Given the description of an element on the screen output the (x, y) to click on. 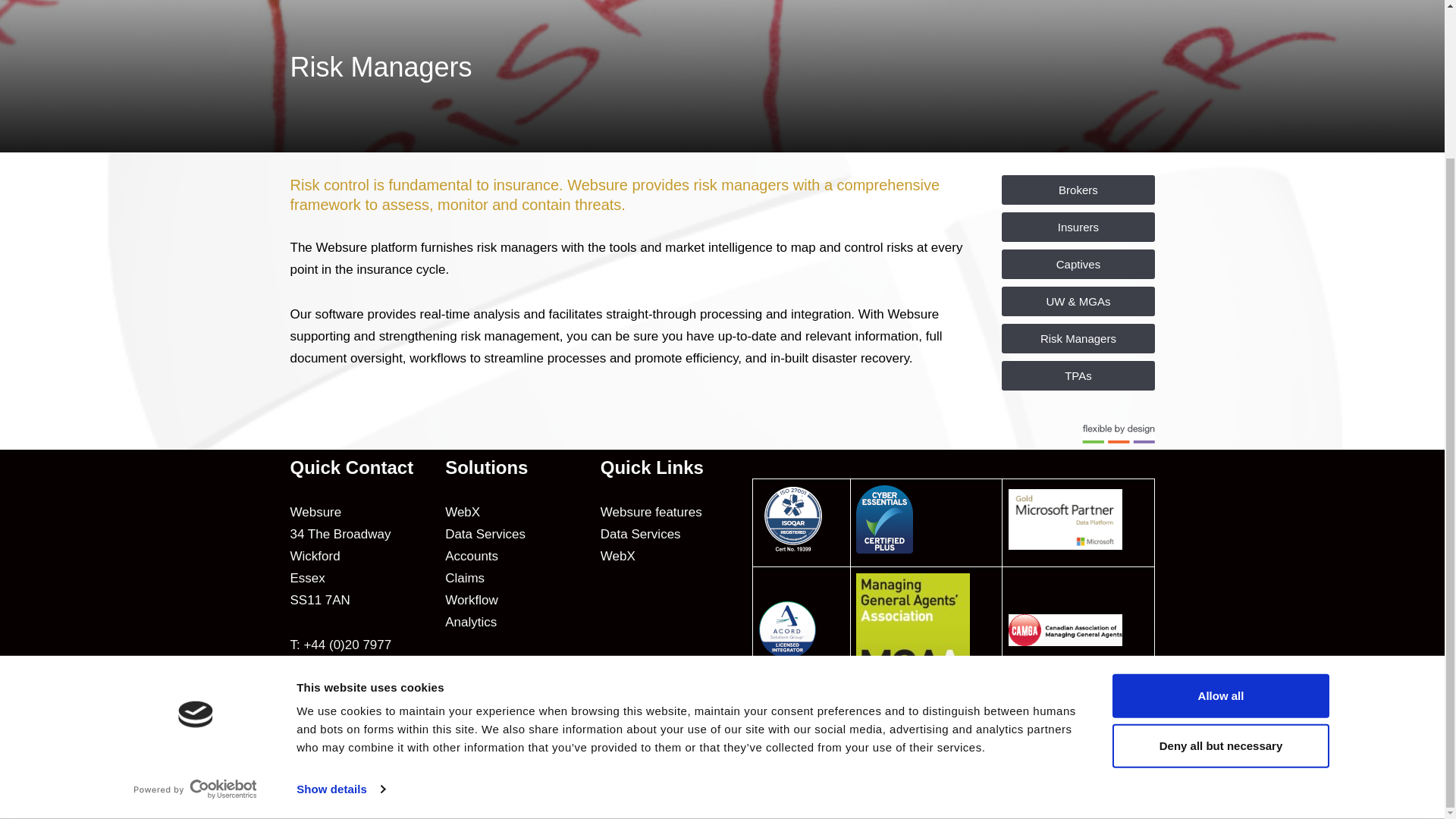
Show details (340, 603)
Allow all (1219, 510)
Deny all but necessary (1219, 559)
